Given the description of an element on the screen output the (x, y) to click on. 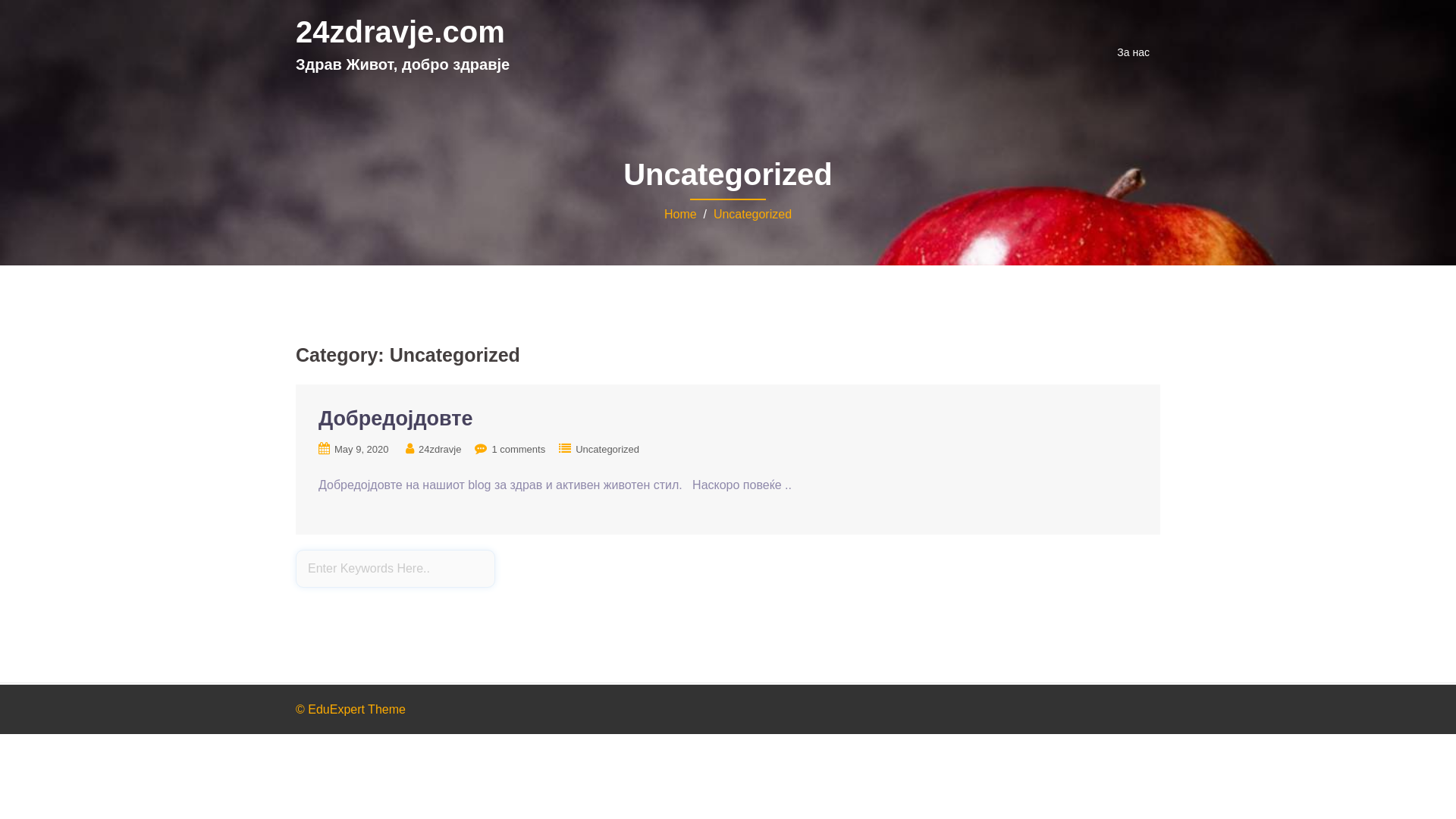
May 9, 2020 Element type: text (361, 448)
1 comments Element type: text (518, 448)
24zdravje Element type: text (439, 448)
Search Element type: text (50, 18)
Uncategorized Element type: text (752, 213)
Home Element type: text (680, 213)
24zdravje.com Element type: text (400, 31)
Uncategorized Element type: text (607, 448)
